Given the description of an element on the screen output the (x, y) to click on. 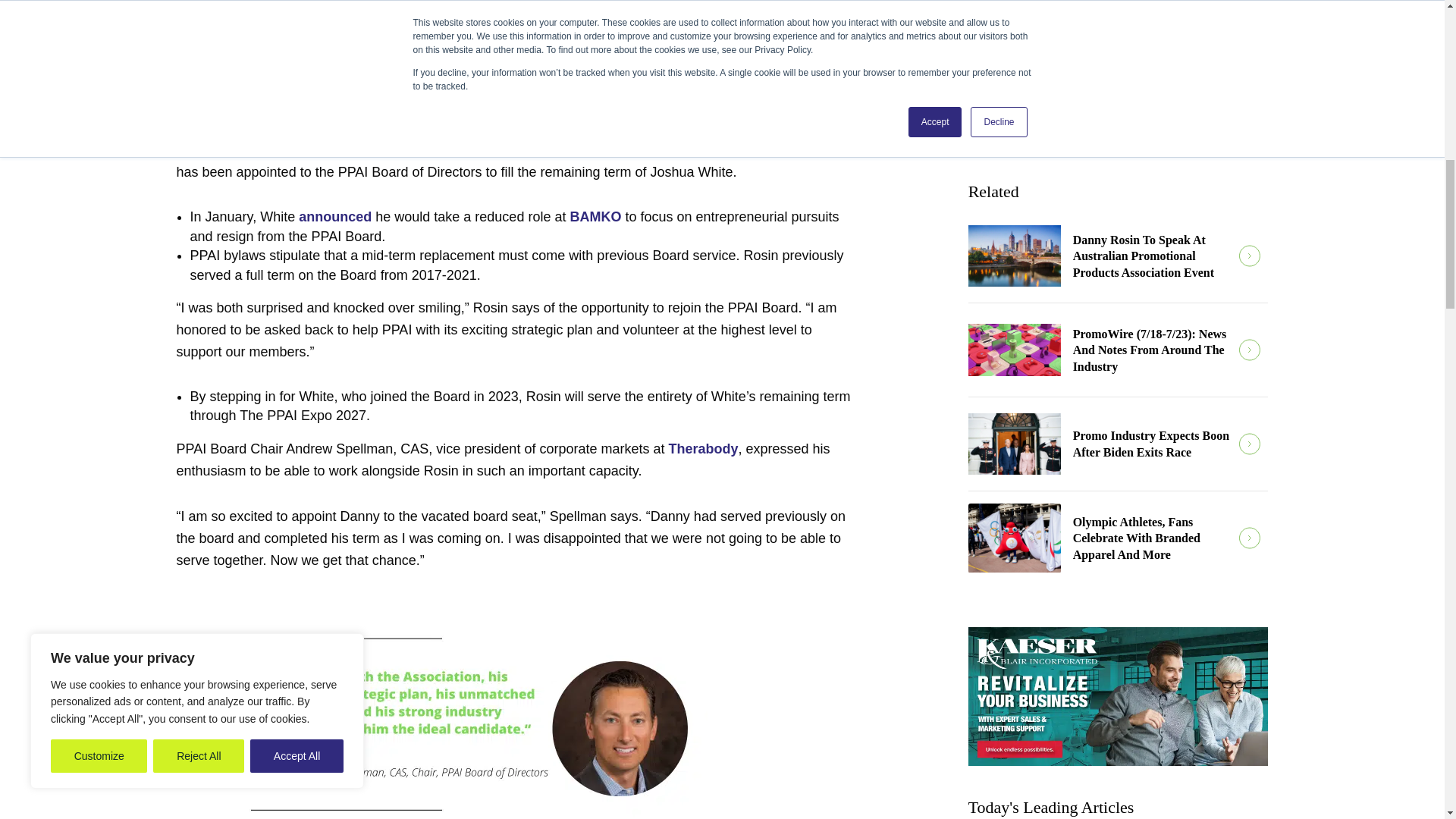
Trinity Audio Player (517, 84)
